Given the description of an element on the screen output the (x, y) to click on. 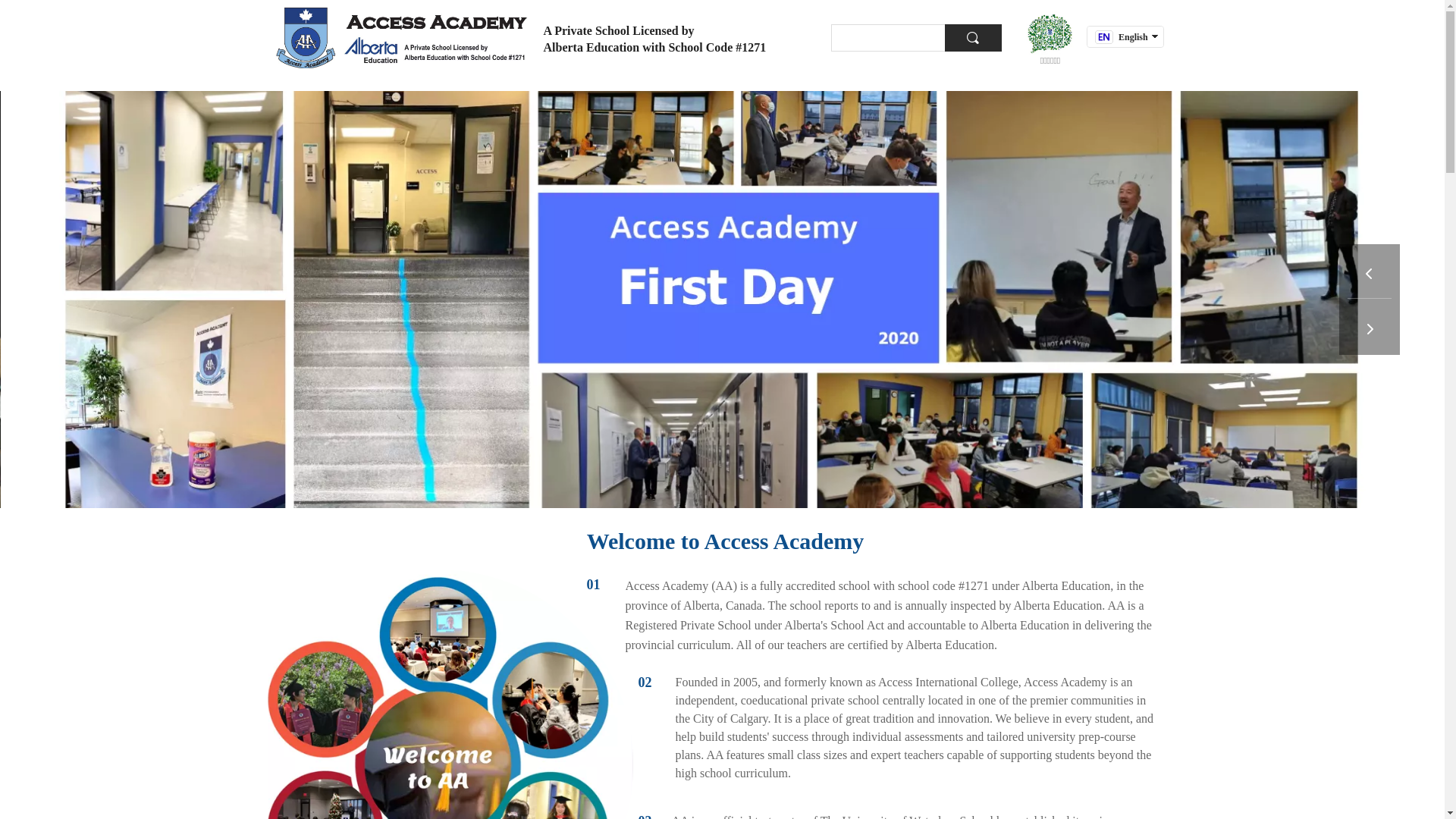
accessacademy Element type: hover (401, 37)
  Element type: text (1110, 56)
  English Element type: text (1121, 36)
